Given the description of an element on the screen output the (x, y) to click on. 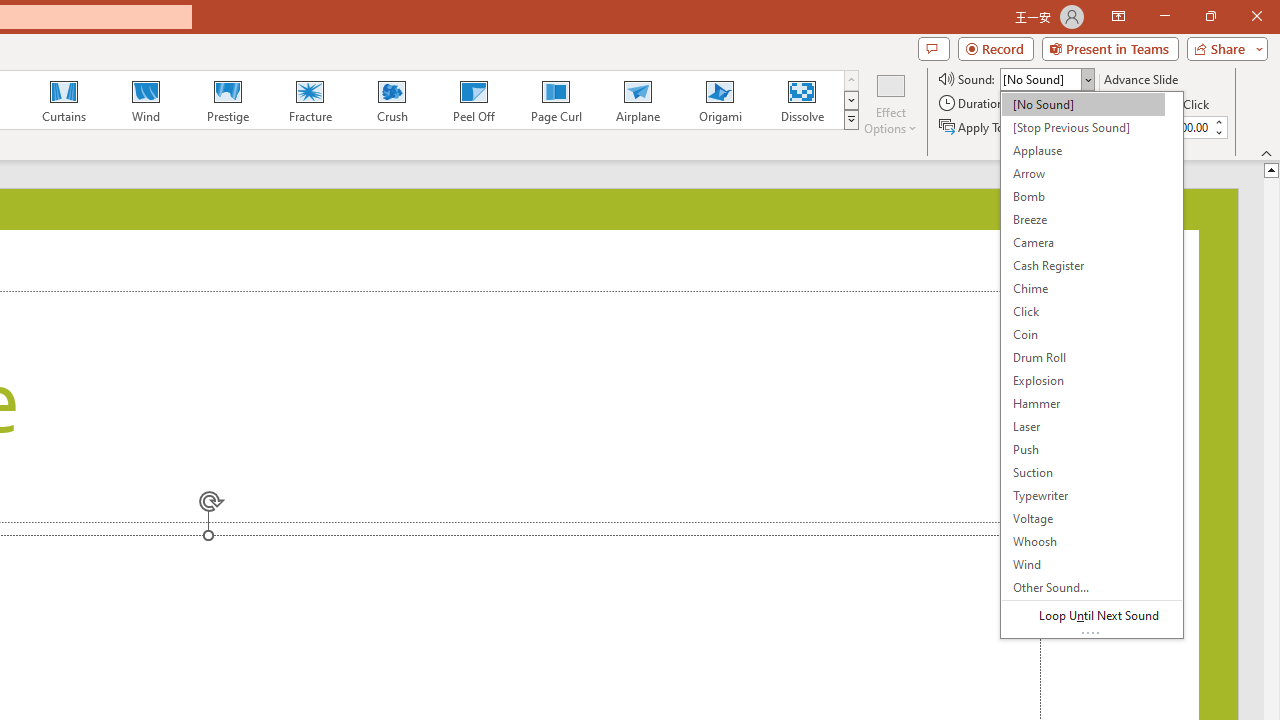
Sound: (1091, 364)
Crush (391, 100)
Airplane (637, 100)
Peel Off (473, 100)
Fracture (309, 100)
Origami (719, 100)
Prestige (227, 100)
